Given the description of an element on the screen output the (x, y) to click on. 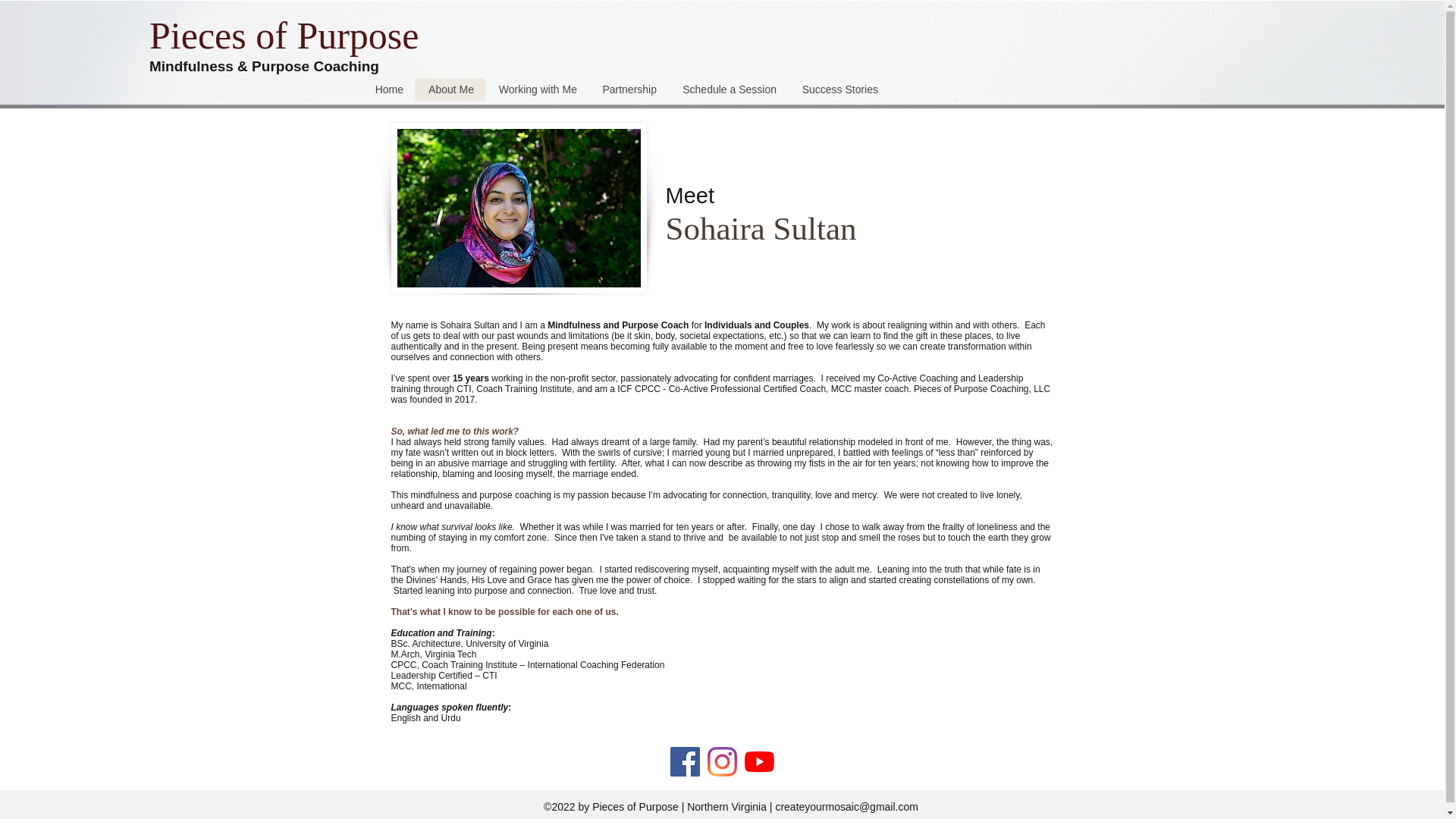
Success Stories (838, 88)
Schedule a Session (727, 88)
Home (388, 88)
Partnership (628, 88)
Pieces of Purpose  (288, 35)
Working with Me (536, 88)
About Me (449, 88)
